Given the description of an element on the screen output the (x, y) to click on. 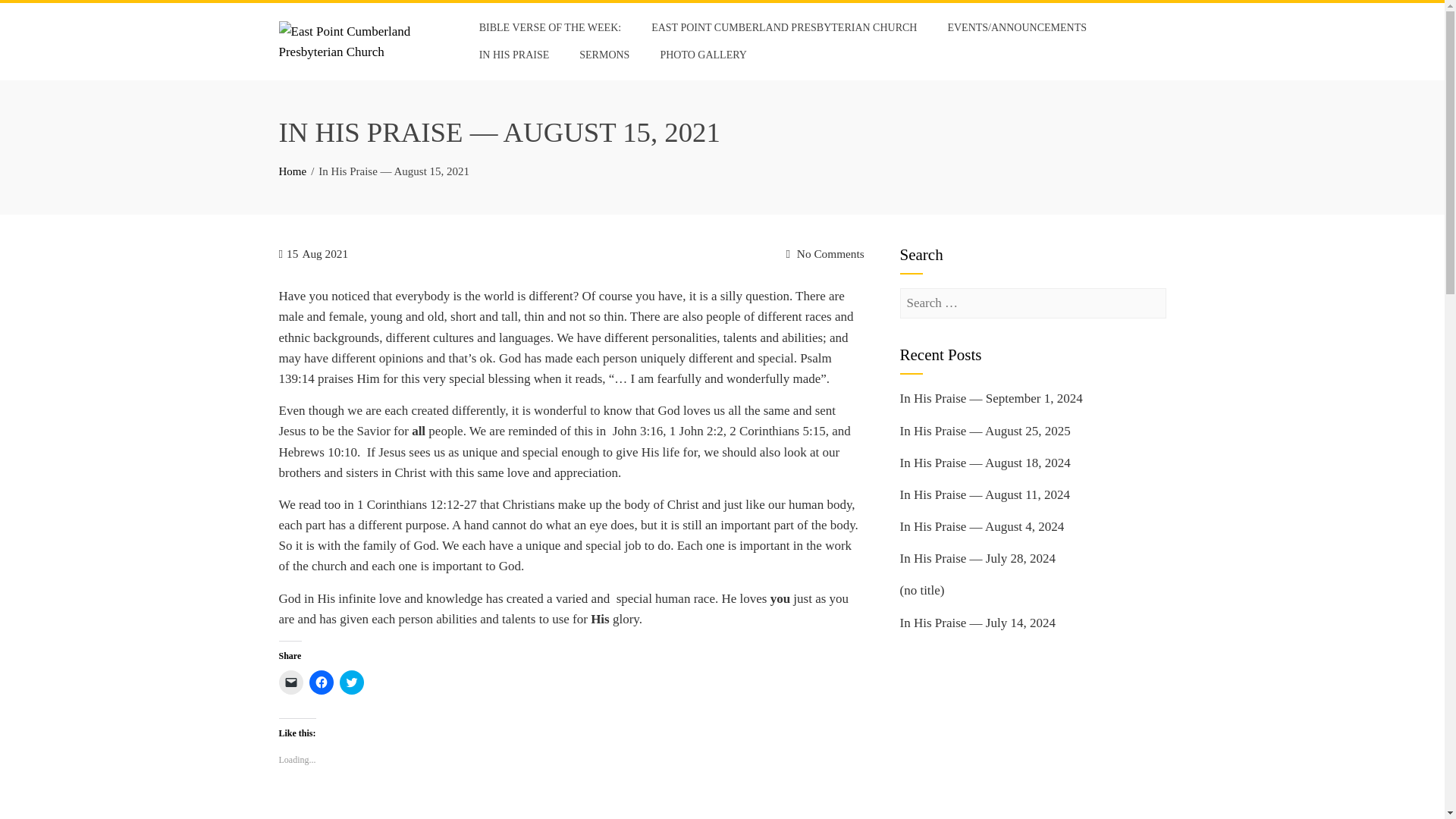
PHOTO GALLERY (702, 54)
No Comments (824, 253)
Click to share on Twitter (351, 682)
Click to share on Facebook (320, 682)
SERMONS (603, 54)
IN HIS PRAISE (513, 54)
EAST POINT CUMBERLAND PRESBYTERIAN CHURCH (784, 27)
Home (293, 171)
Click to email a link to a friend (290, 682)
Search (32, 15)
